Given the description of an element on the screen output the (x, y) to click on. 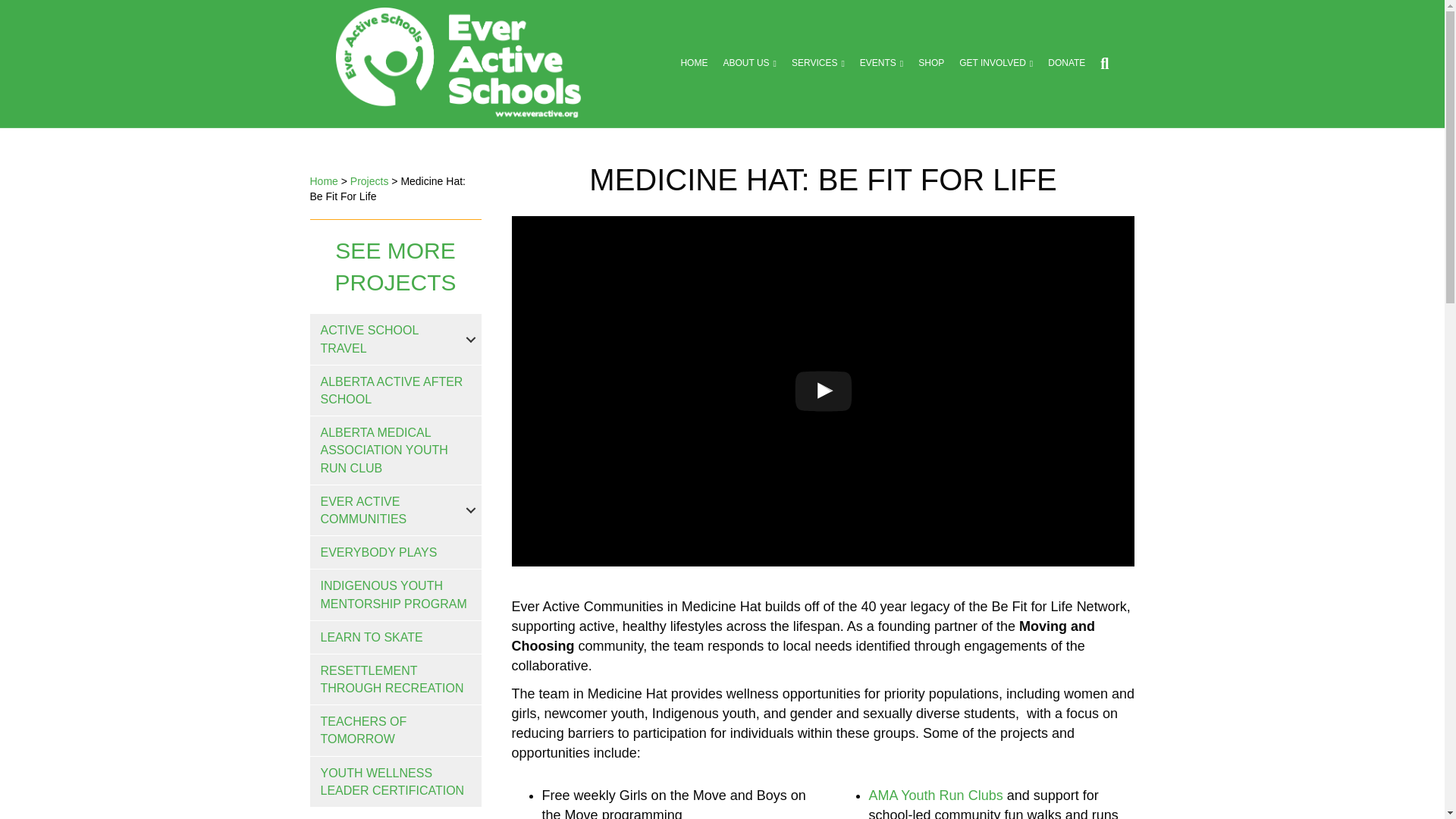
Go to Ever Active Schools. (322, 181)
EVENTS (881, 63)
Go to Projects. (369, 181)
ACTIVE SCHOOL TRAVEL (394, 338)
Projects (369, 181)
ABOUT US (749, 63)
SHOP (931, 63)
GET INVOLVED (996, 63)
SERVICES (817, 63)
Home (322, 181)
